Given the description of an element on the screen output the (x, y) to click on. 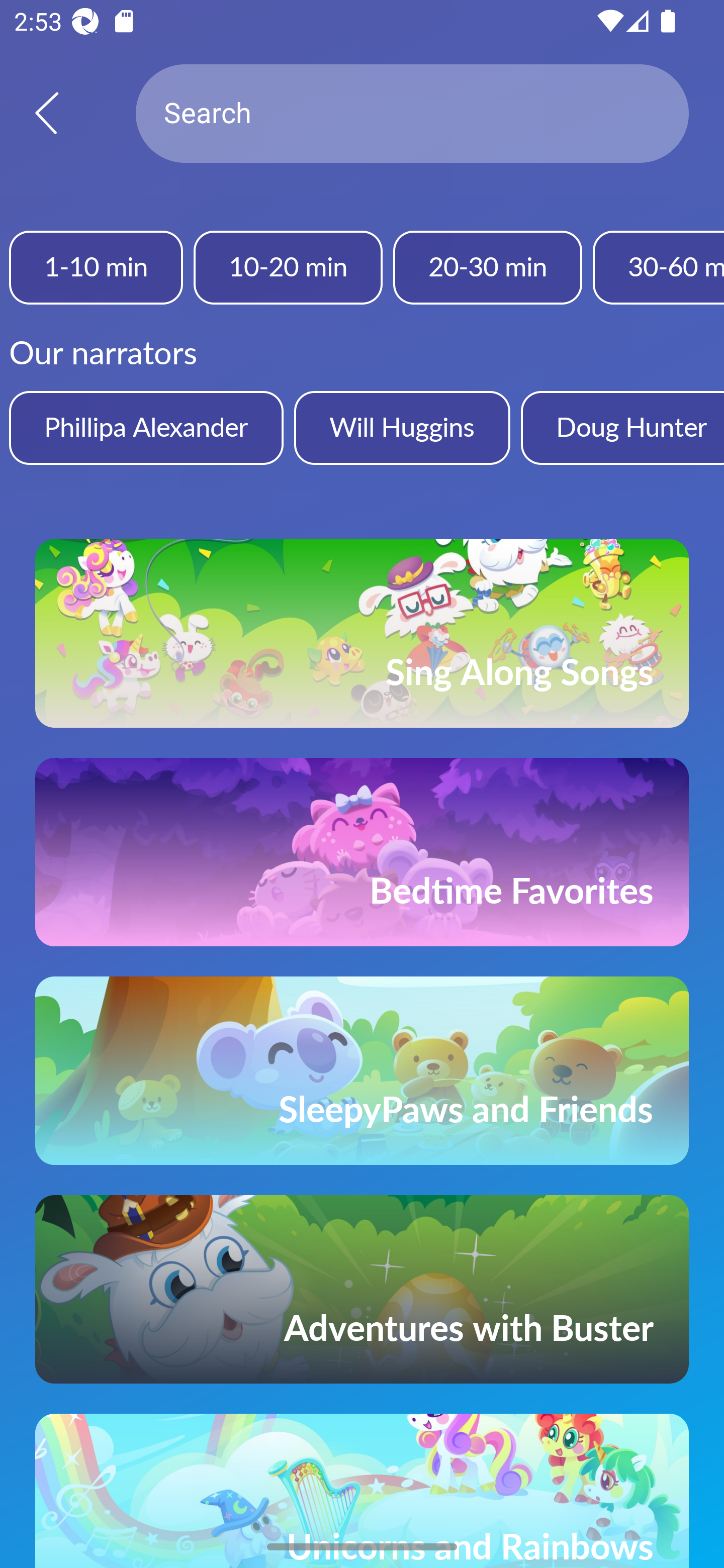
Search (412, 113)
1-10 min (95, 267)
10-20 min (287, 267)
20-30 min (487, 267)
30-60 min (658, 267)
Phillipa Alexander (145, 427)
Will Huggins (401, 427)
Doug Hunter (622, 427)
Sing Along Songs (361, 633)
Bedtime Favorites (361, 852)
SleepyPaws and Friends (361, 1070)
Adventures with Buster (361, 1288)
Unicorns and Rainbows (361, 1491)
